Given the description of an element on the screen output the (x, y) to click on. 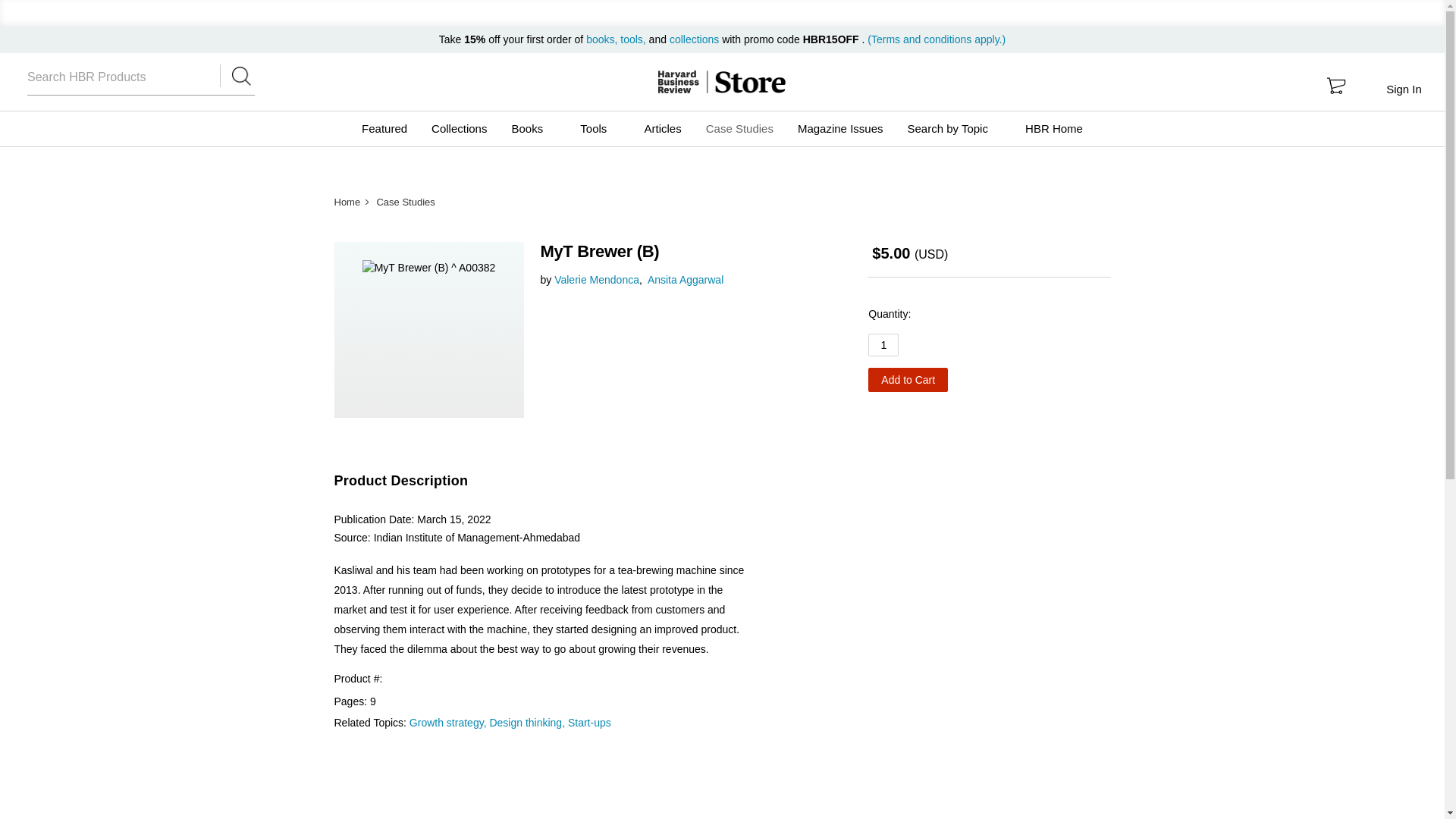
Tools (599, 128)
tools, (632, 39)
Collections (459, 128)
Add to Cart (907, 379)
Sign In (1403, 88)
HBR.ORG - Prod (678, 81)
collections (694, 39)
Books (533, 128)
1 (882, 344)
Featured (384, 128)
